Given the description of an element on the screen output the (x, y) to click on. 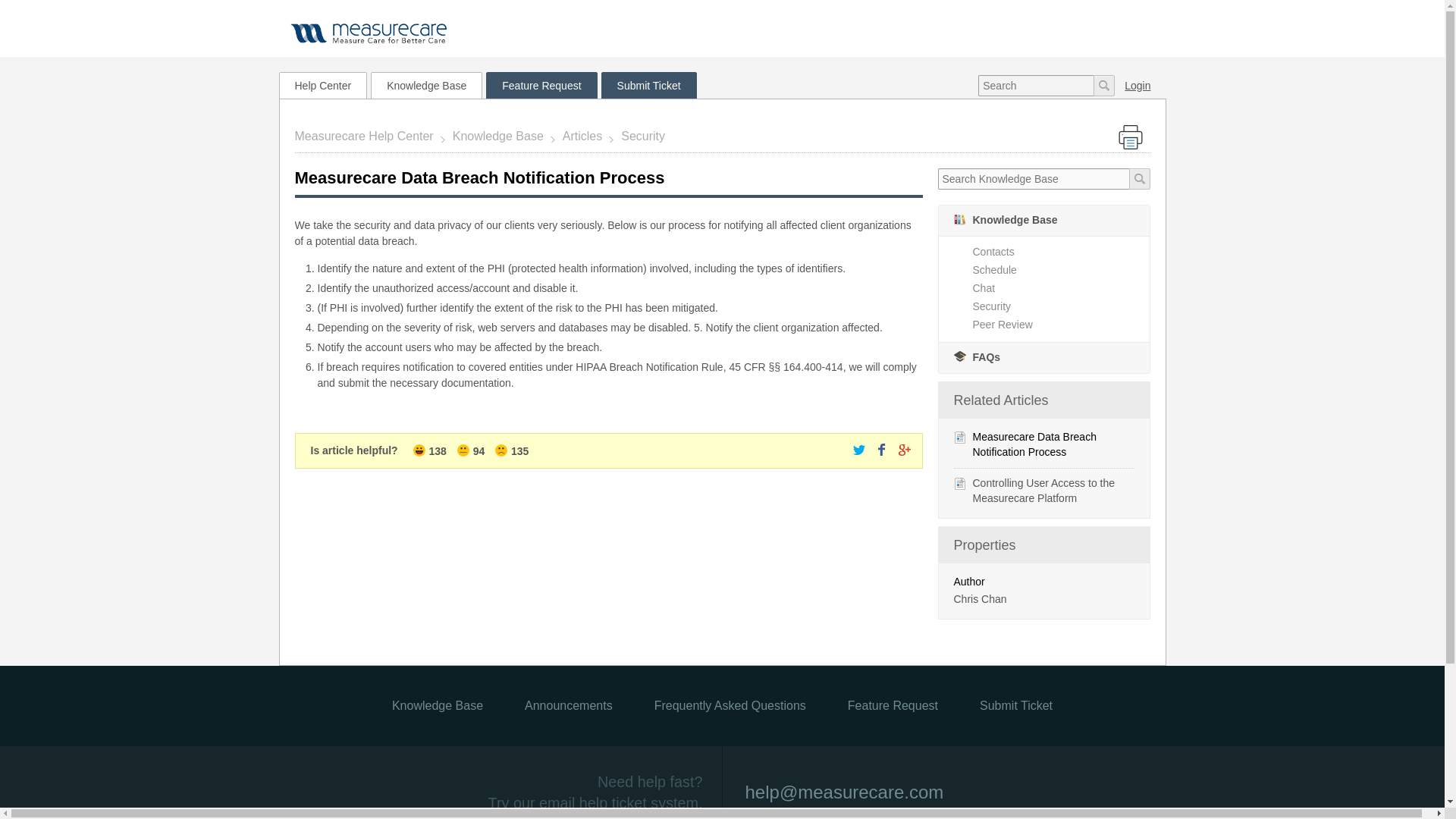
Submit Ticket (649, 85)
138 (431, 451)
Peer Review (1060, 324)
Login (1134, 85)
Schedule (1060, 269)
Feature Request (541, 85)
Measurecare Help Center (369, 135)
Knowledge Base (499, 135)
Send email (838, 775)
Chris Chan (980, 598)
Articles (583, 135)
Chat (1060, 287)
Controlling User Access to the Measurecare Platform (1043, 490)
Security (644, 135)
135 (511, 451)
